Given the description of an element on the screen output the (x, y) to click on. 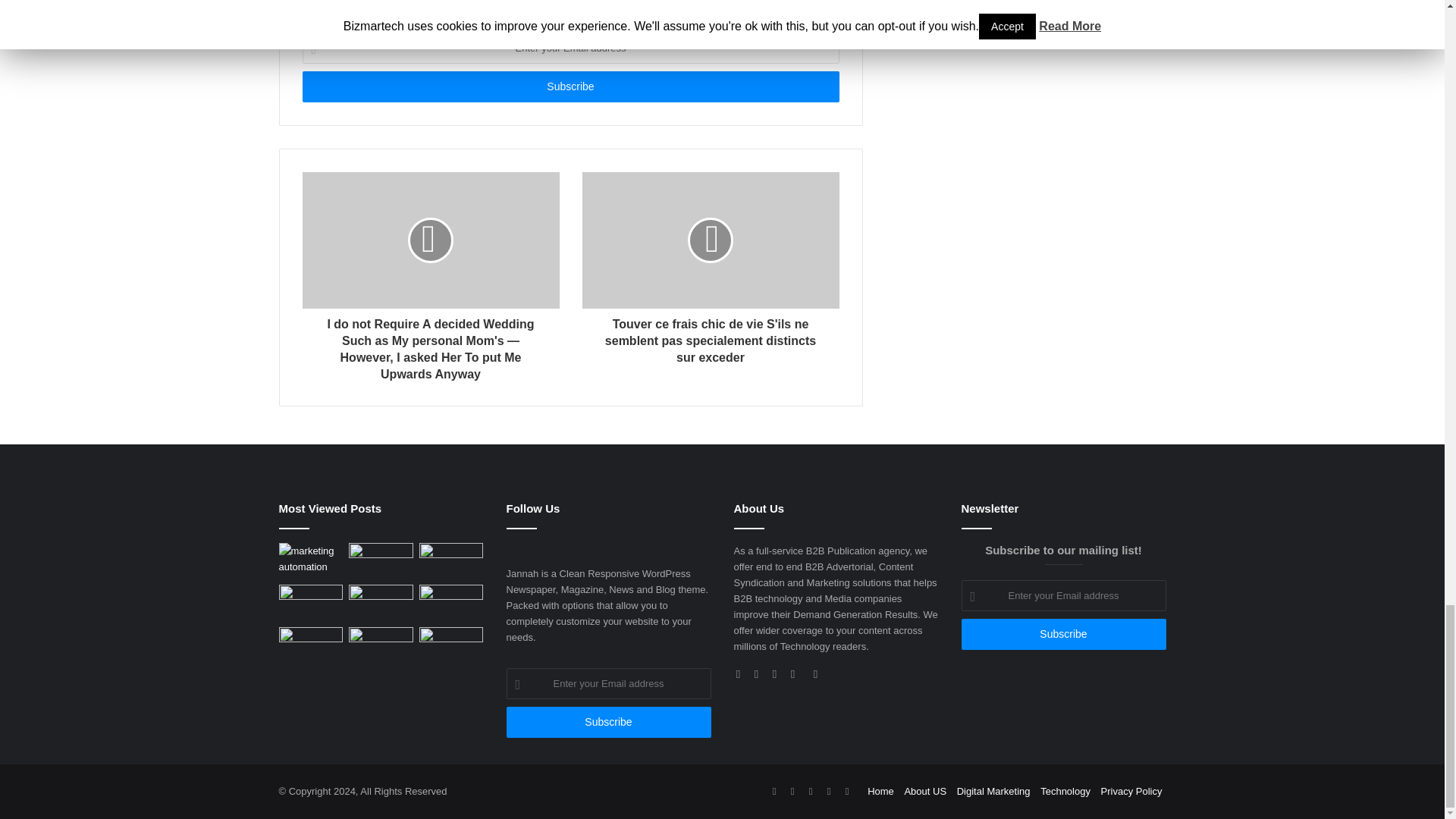
Subscribe (608, 721)
Subscribe (1063, 634)
Subscribe (569, 86)
